Given the description of an element on the screen output the (x, y) to click on. 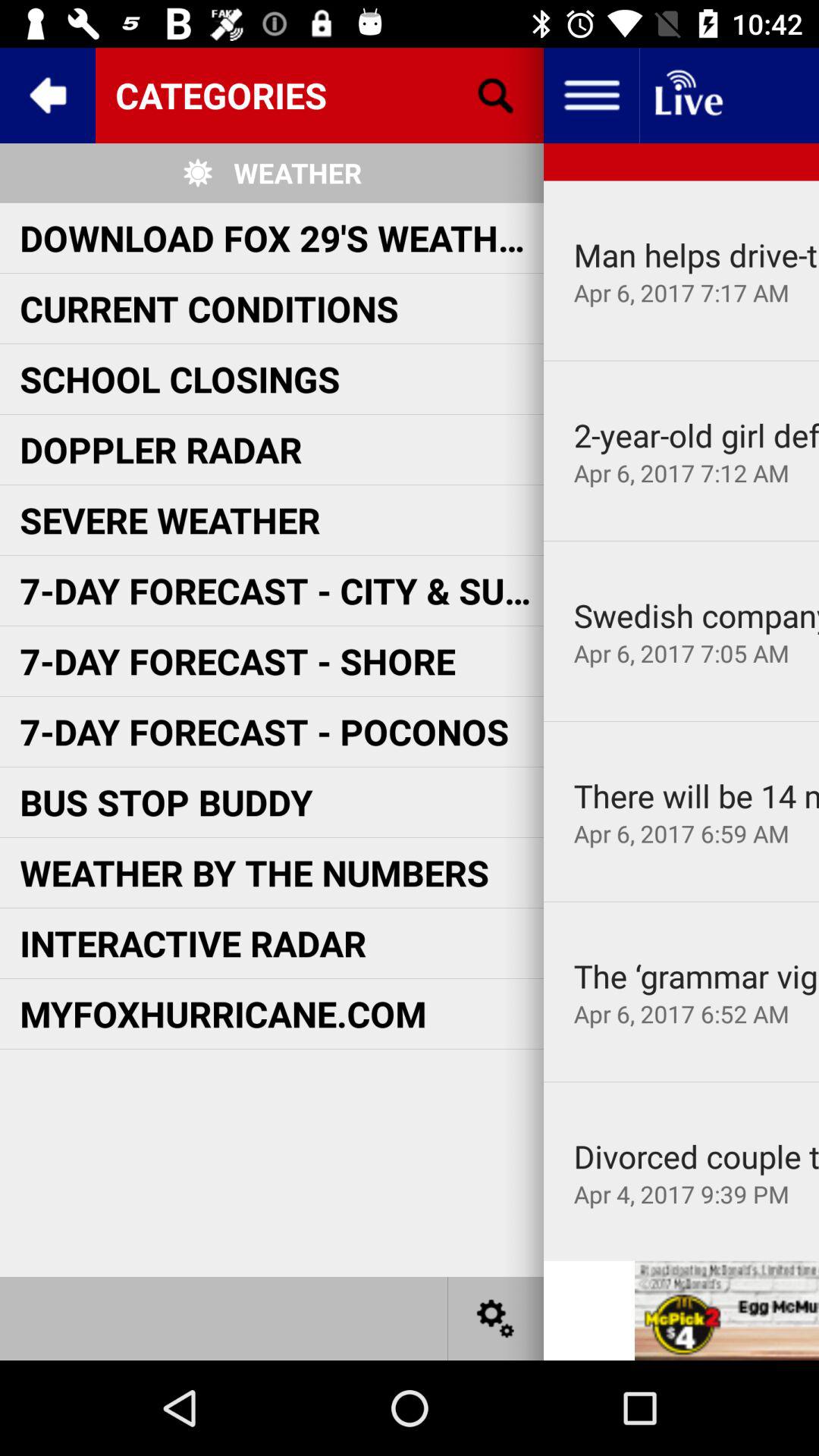
choose the item to the right of school closings icon (696, 434)
